Given the description of an element on the screen output the (x, y) to click on. 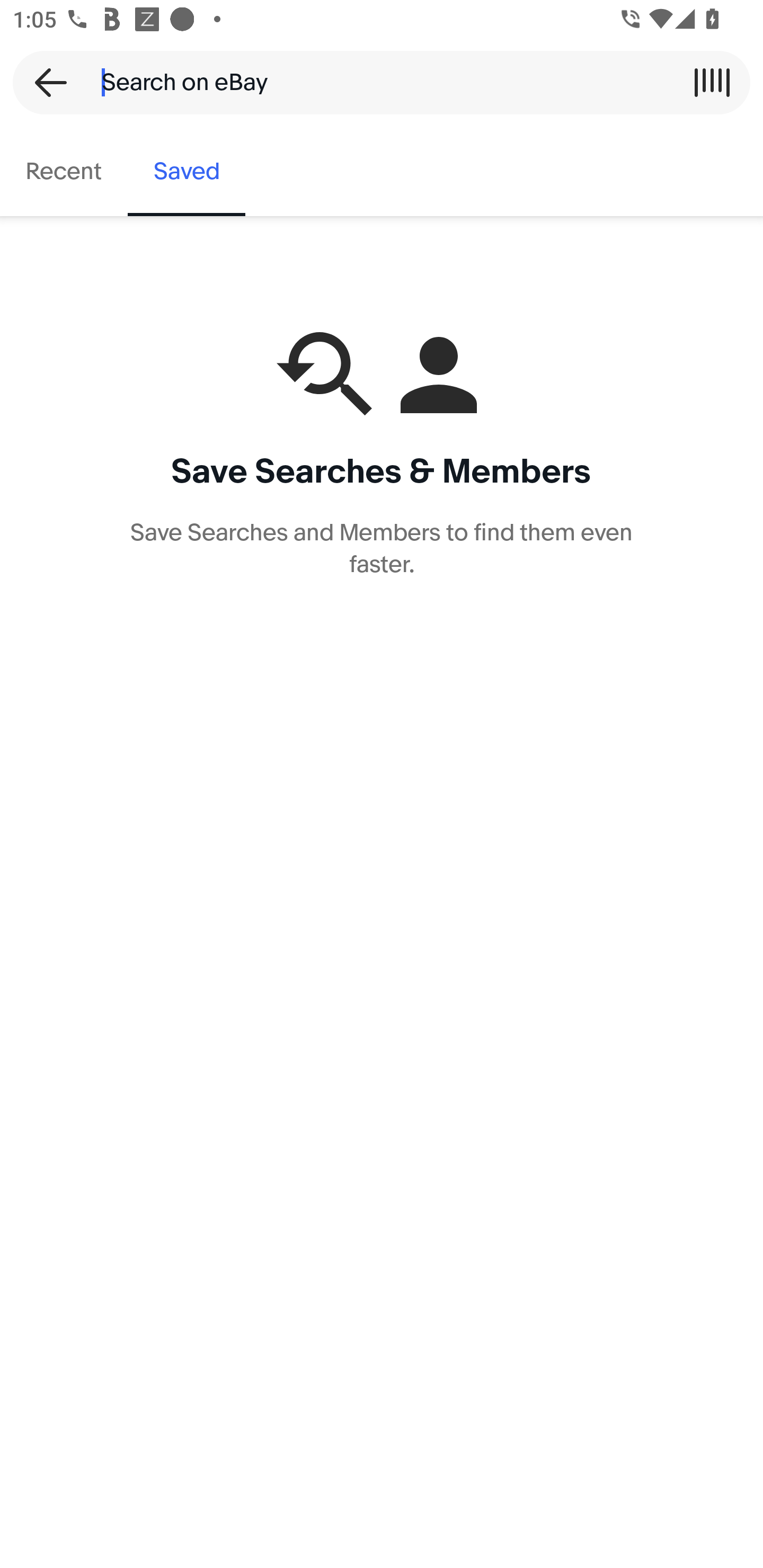
Back (44, 82)
Scan a barcode (711, 82)
Search on eBay (375, 82)
Recent, tab 1 of 2 Recent (63, 171)
